Given the description of an element on the screen output the (x, y) to click on. 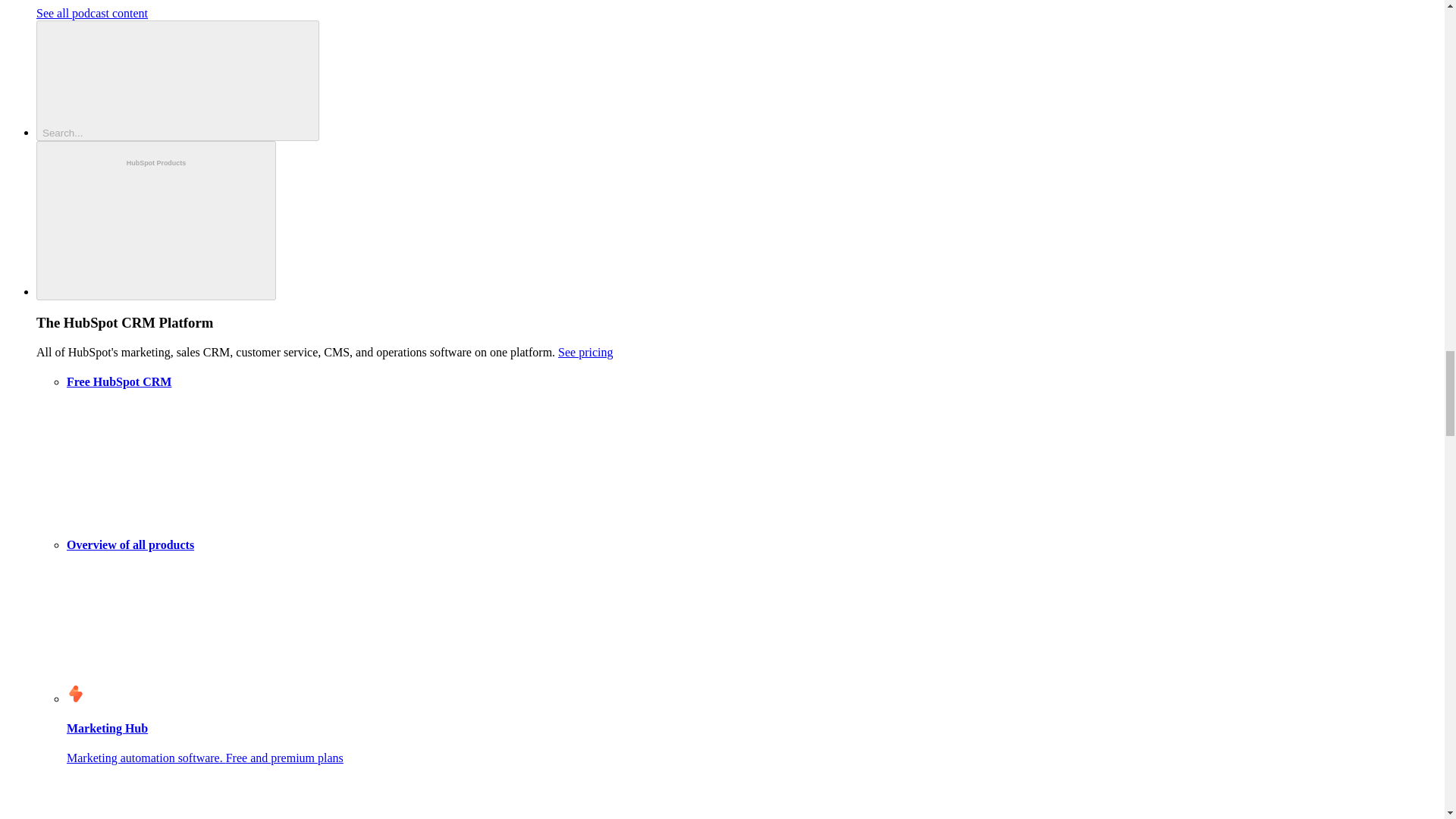
See all podcast content (92, 12)
See pricing (584, 351)
Search... (177, 80)
HubSpot Products (156, 220)
